Given the description of an element on the screen output the (x, y) to click on. 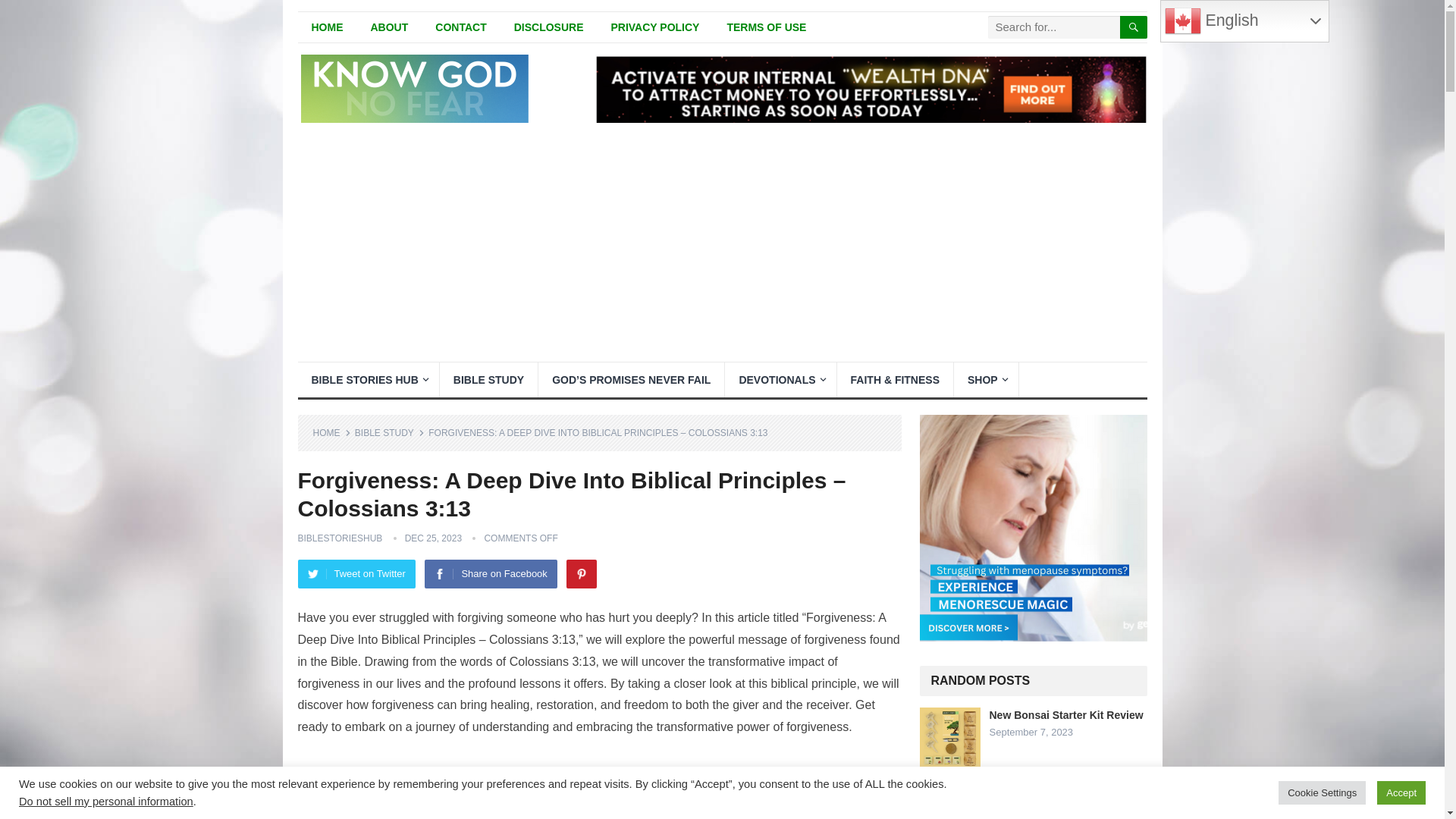
BIBLESTORIESHUB (339, 538)
CONTACT (460, 27)
DEVOTIONALS (780, 379)
BIBLE STORIES HUB (367, 379)
View all posts in Bible Study (390, 432)
Share on Facebook (490, 573)
ABOUT (389, 27)
Tweet on Twitter (355, 573)
BIBLE STUDY (390, 432)
PRIVACY POLICY (654, 27)
